Given the description of an element on the screen output the (x, y) to click on. 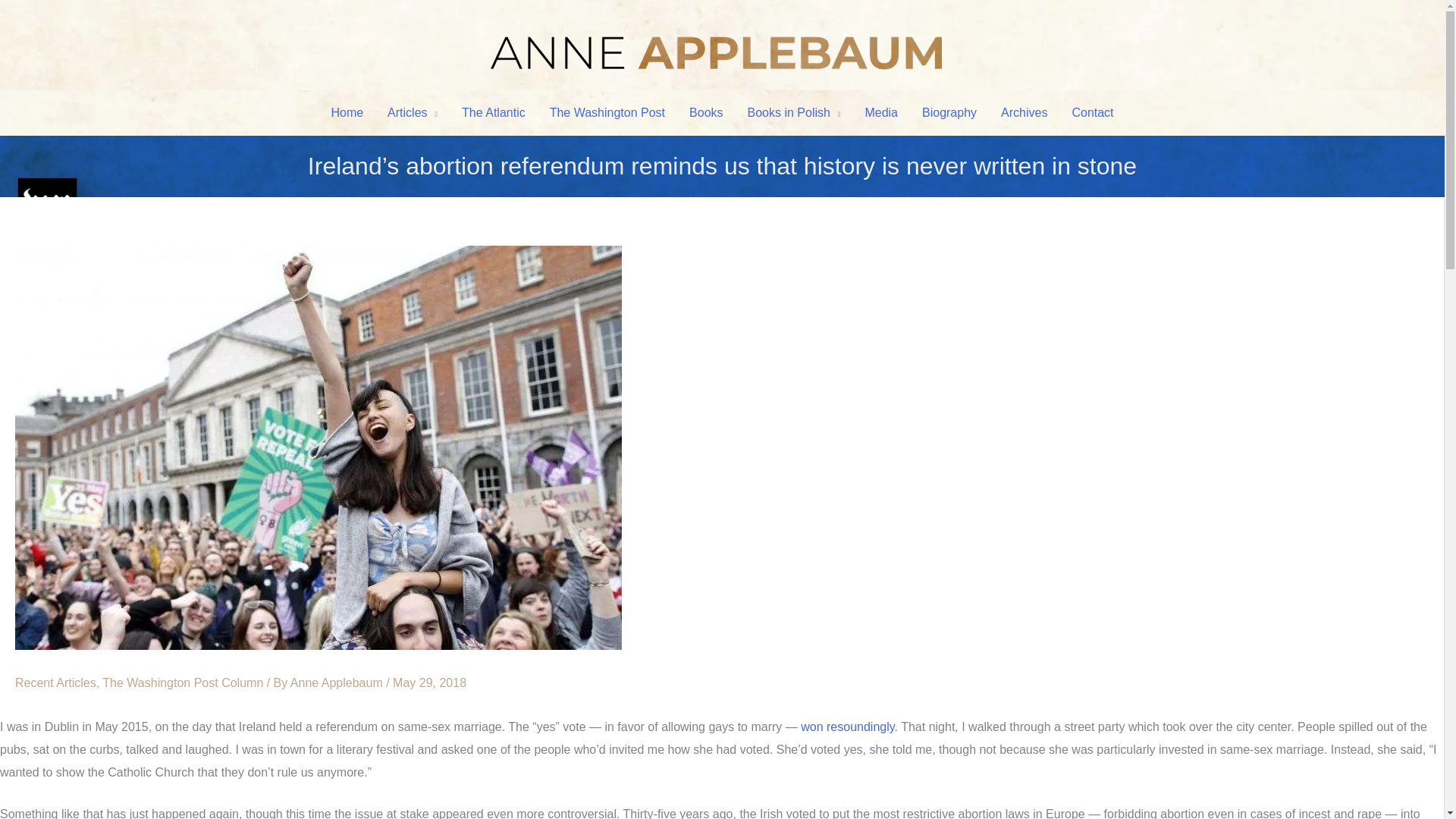
Home (346, 112)
Books (706, 112)
Media (880, 112)
Contact (1092, 112)
Books in Polish (794, 112)
The Washington Post (607, 112)
Biography (949, 112)
View all posts by Anne Applebaum (337, 682)
Archives (1023, 112)
The Atlantic (493, 112)
